Given the description of an element on the screen output the (x, y) to click on. 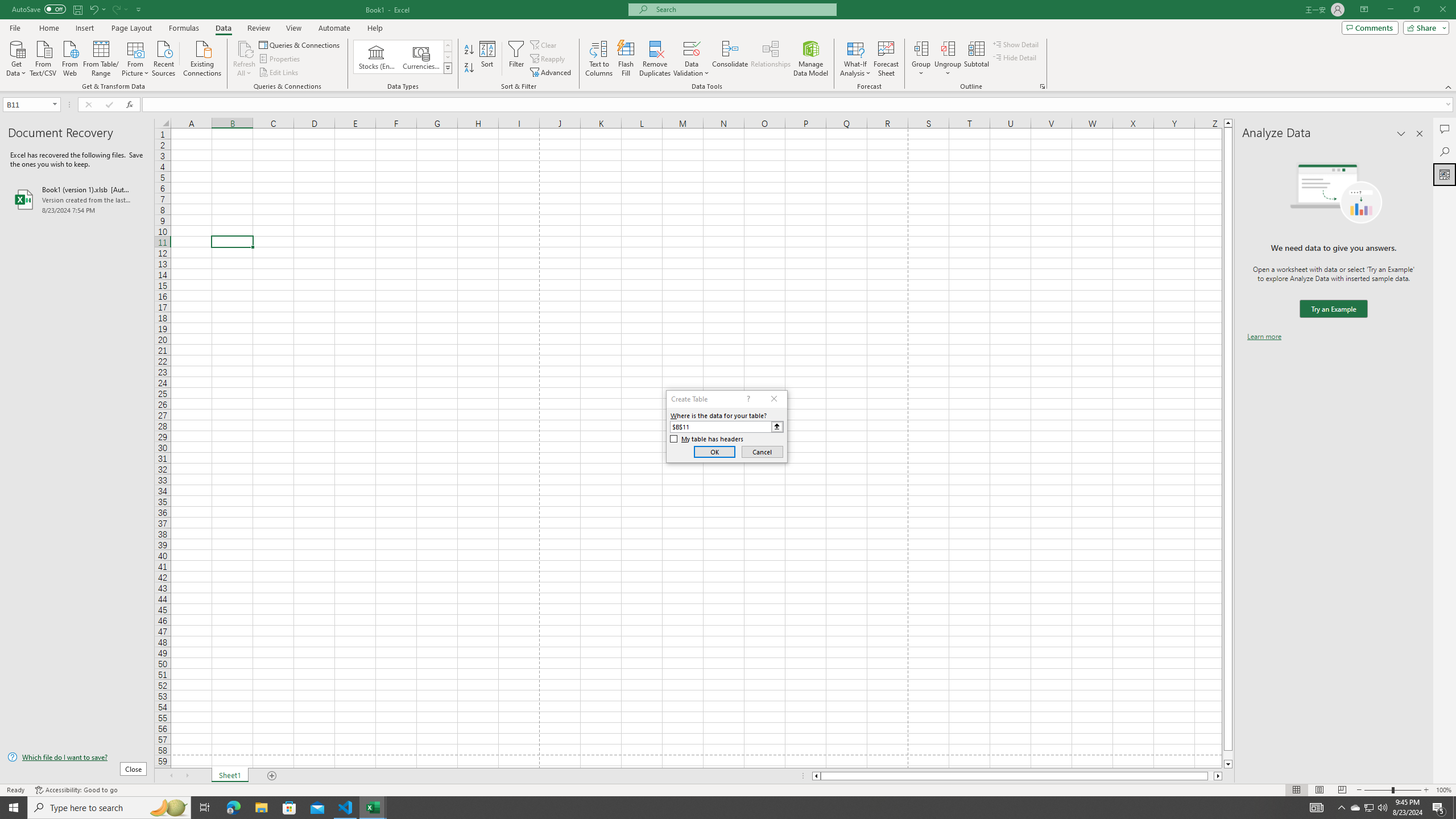
From Text/CSV (43, 57)
Text to Columns... (598, 58)
Currencies (English) (420, 56)
Recent Sources (163, 57)
Forecast Sheet (885, 58)
Relationships (770, 58)
From Picture (135, 57)
